Given the description of an element on the screen output the (x, y) to click on. 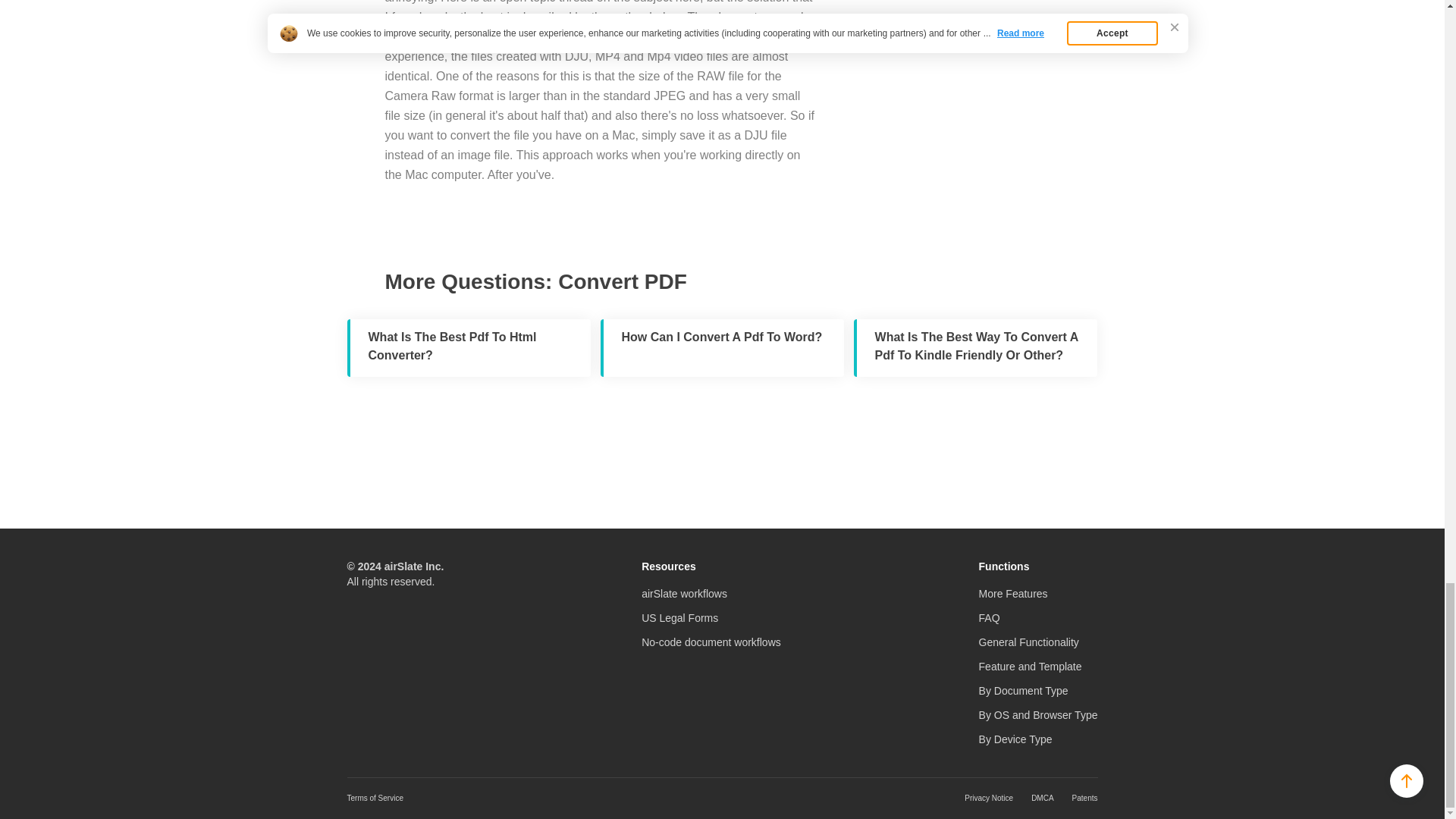
By OS and Browser Type (1037, 715)
More Features (1013, 593)
Patents (1084, 798)
airSlate workflows (684, 593)
US Legal Forms (679, 617)
By Document Type (1023, 690)
Privacy Notice (988, 798)
By Device Type (1015, 739)
What Is The Best Pdf To Html Converter? (469, 347)
Feature and Template (1029, 666)
Terms of Service (375, 797)
DMCA (1041, 798)
FAQ (989, 617)
How Can I Convert A Pdf To Word? (721, 347)
